Given the description of an element on the screen output the (x, y) to click on. 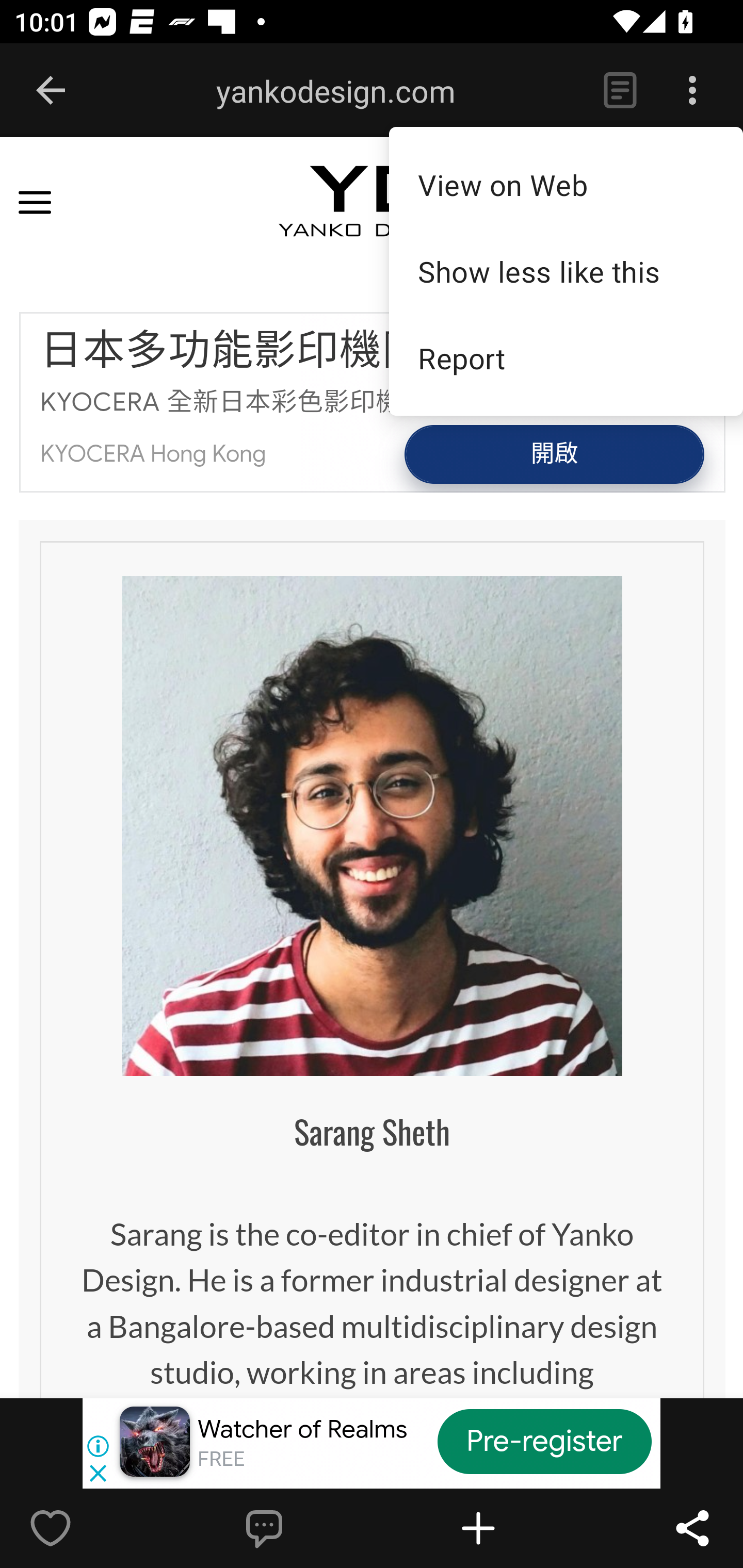
View on Web (566, 184)
Show less like this (566, 271)
Report (566, 358)
